Given the description of an element on the screen output the (x, y) to click on. 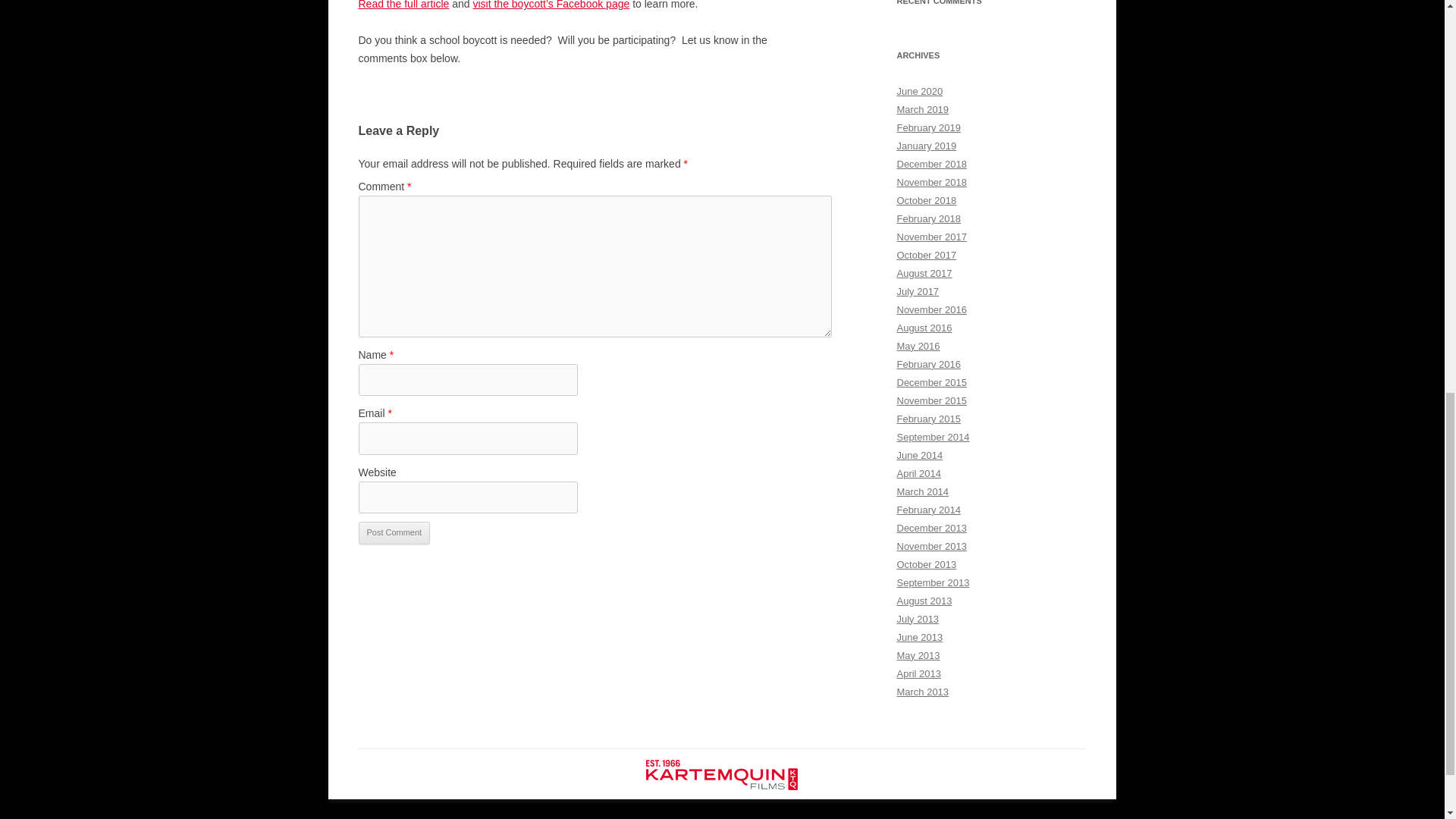
February 2016 (927, 364)
August 2017 (924, 273)
October 2017 (926, 255)
Post Comment (393, 532)
January 2019 (926, 145)
May 2016 (917, 346)
July 2017 (917, 291)
February 2018 (927, 218)
December 2015 (931, 382)
November 2017 (931, 236)
December 2018 (931, 163)
June 2020 (919, 91)
March 2019 (922, 109)
November 2016 (931, 309)
November 2018 (931, 182)
